Given the description of an element on the screen output the (x, y) to click on. 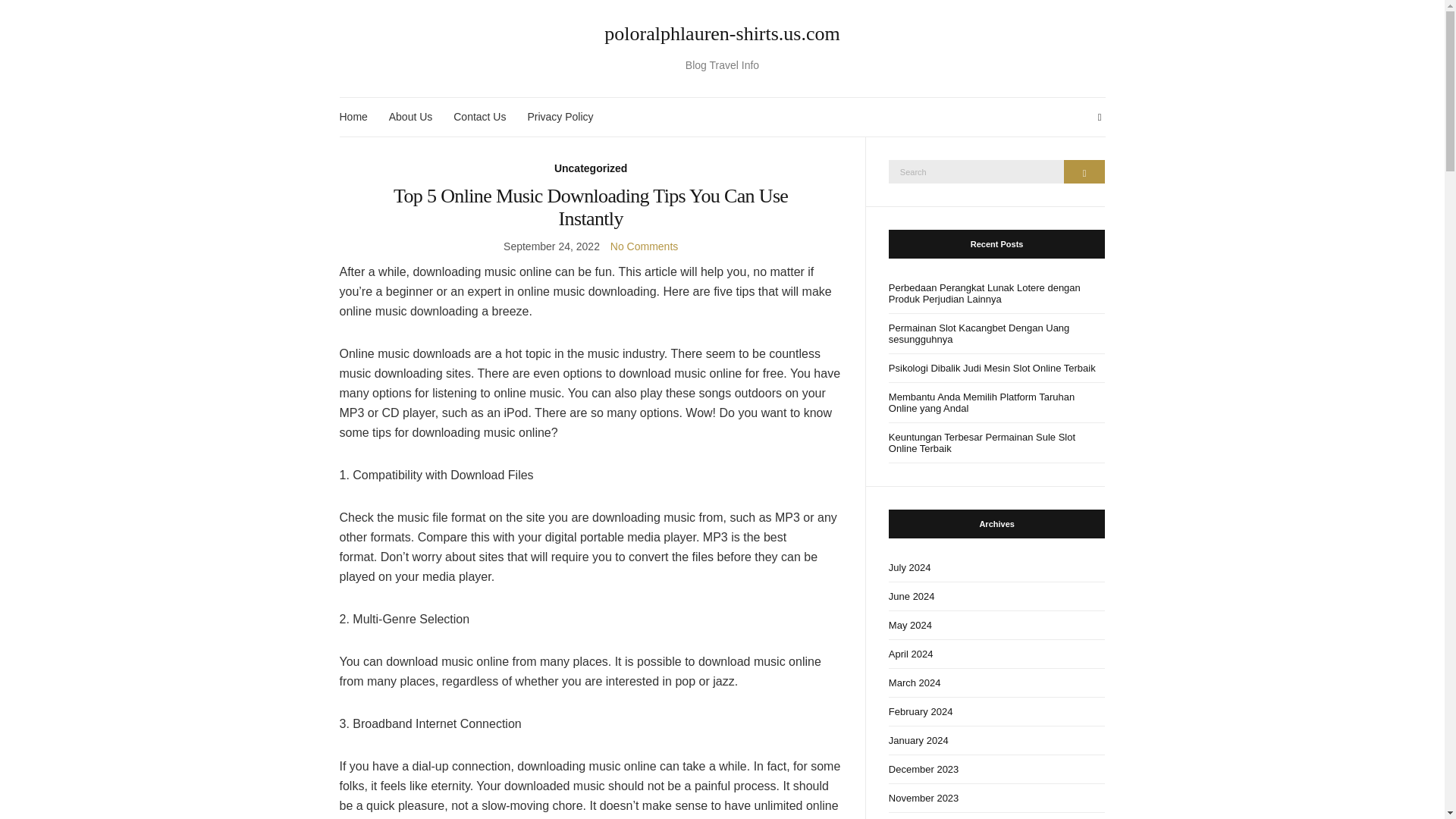
poloralphlauren-shirts.us.com (722, 33)
Uncategorized (590, 168)
February 2024 (996, 711)
Home (353, 117)
November 2023 (996, 798)
Psikologi Dibalik Judi Mesin Slot Online Terbaik (996, 368)
Contact Us (478, 117)
Search (1084, 171)
Keuntungan Terbesar Permainan Sule Slot Online Terbaik (996, 443)
May 2024 (996, 624)
July 2024 (996, 567)
October 2023 (996, 816)
March 2024 (996, 683)
About Us (410, 117)
January 2024 (996, 740)
